Given the description of an element on the screen output the (x, y) to click on. 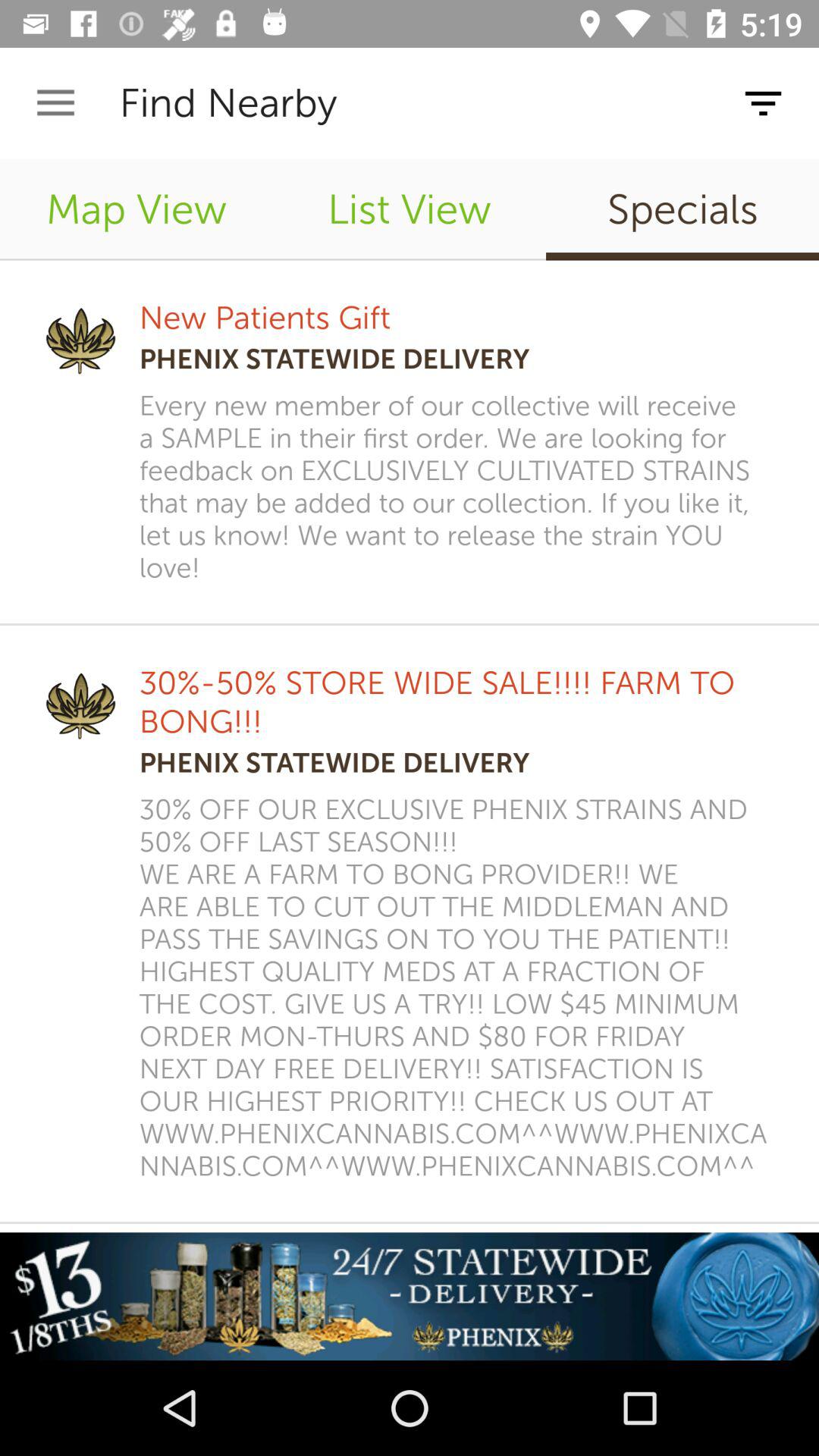
flip until list view item (409, 209)
